Given the description of an element on the screen output the (x, y) to click on. 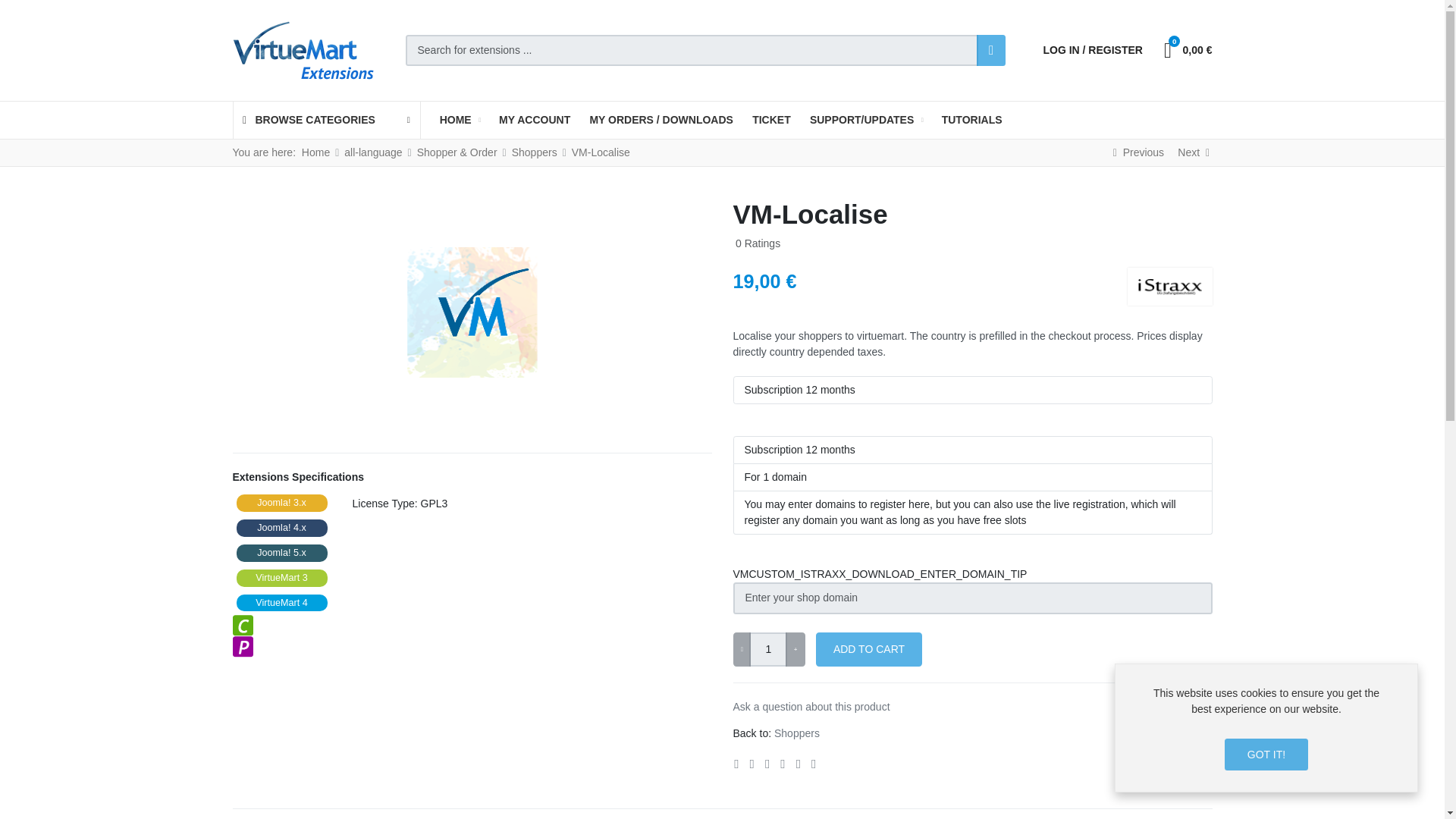
Add to Cart (868, 649)
Cart (1185, 50)
1 (768, 649)
HOME (459, 119)
Add to Cart (868, 649)
MY ACCOUNT (534, 119)
